Given the description of an element on the screen output the (x, y) to click on. 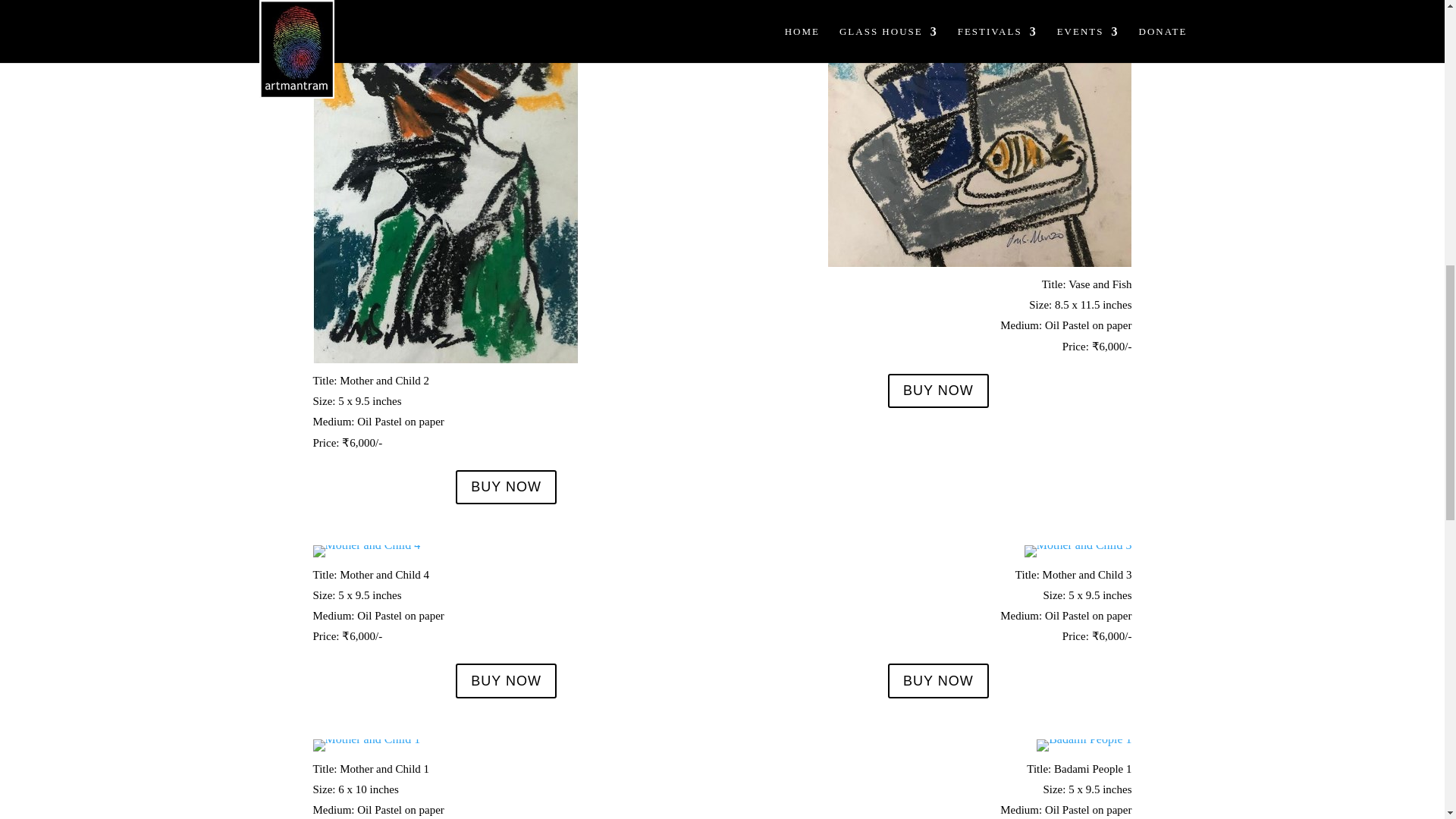
Mother and Child 4 (366, 551)
BUY NOW (505, 680)
Mother and Child 2 (445, 358)
Vase and Fish (979, 262)
BUY NOW (505, 487)
BUY NOW (938, 680)
Badami People 1 (1083, 738)
Mother and Child 3 (1078, 551)
BUY NOW (938, 390)
Badami People 1 (1083, 745)
